Given the description of an element on the screen output the (x, y) to click on. 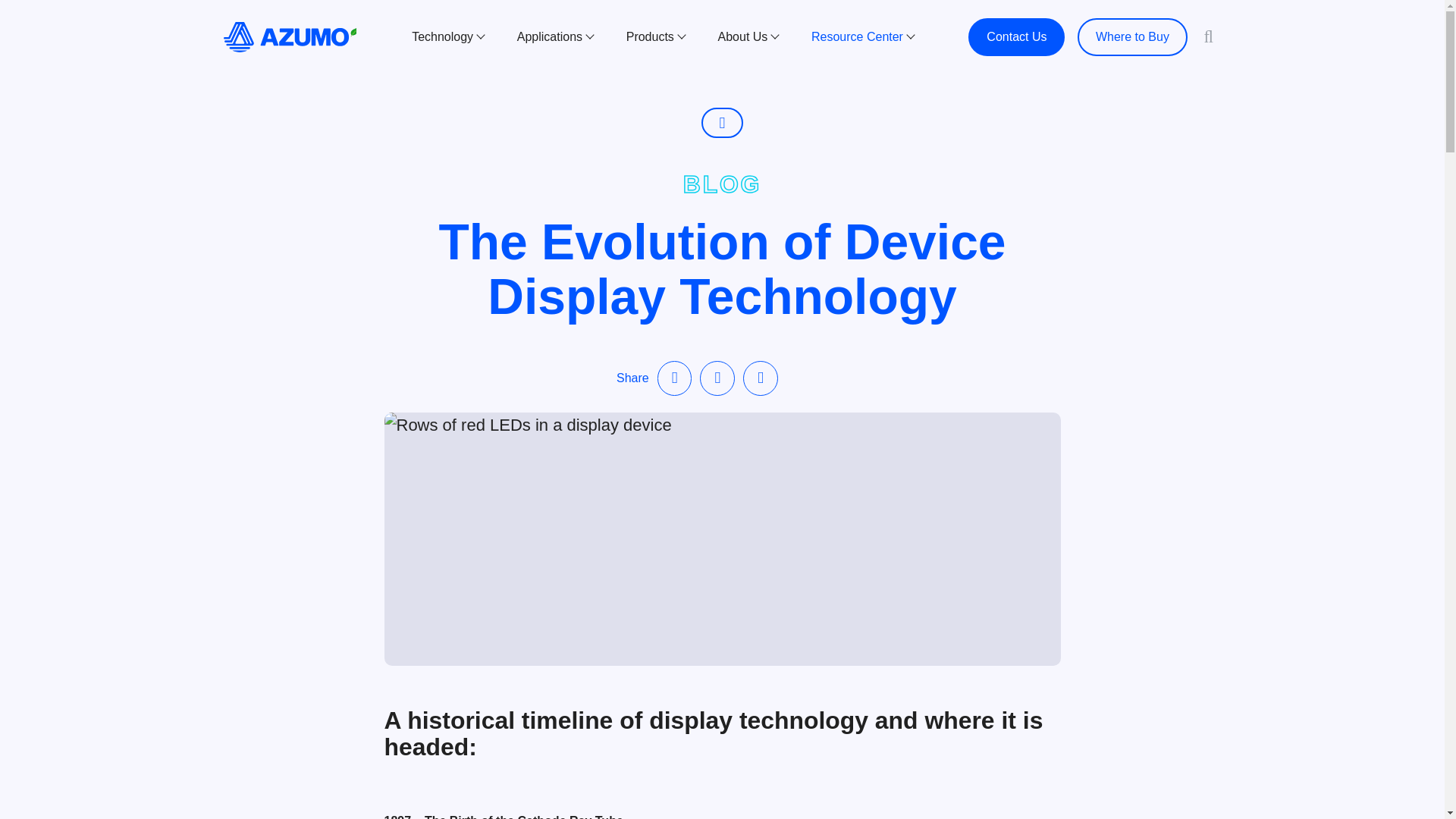
Azumo (289, 36)
Products (655, 36)
About Us (747, 36)
Technology (447, 36)
Contact Us (1015, 36)
Applications (555, 36)
Resource Center (862, 36)
Where to Buy (1132, 36)
